Given the description of an element on the screen output the (x, y) to click on. 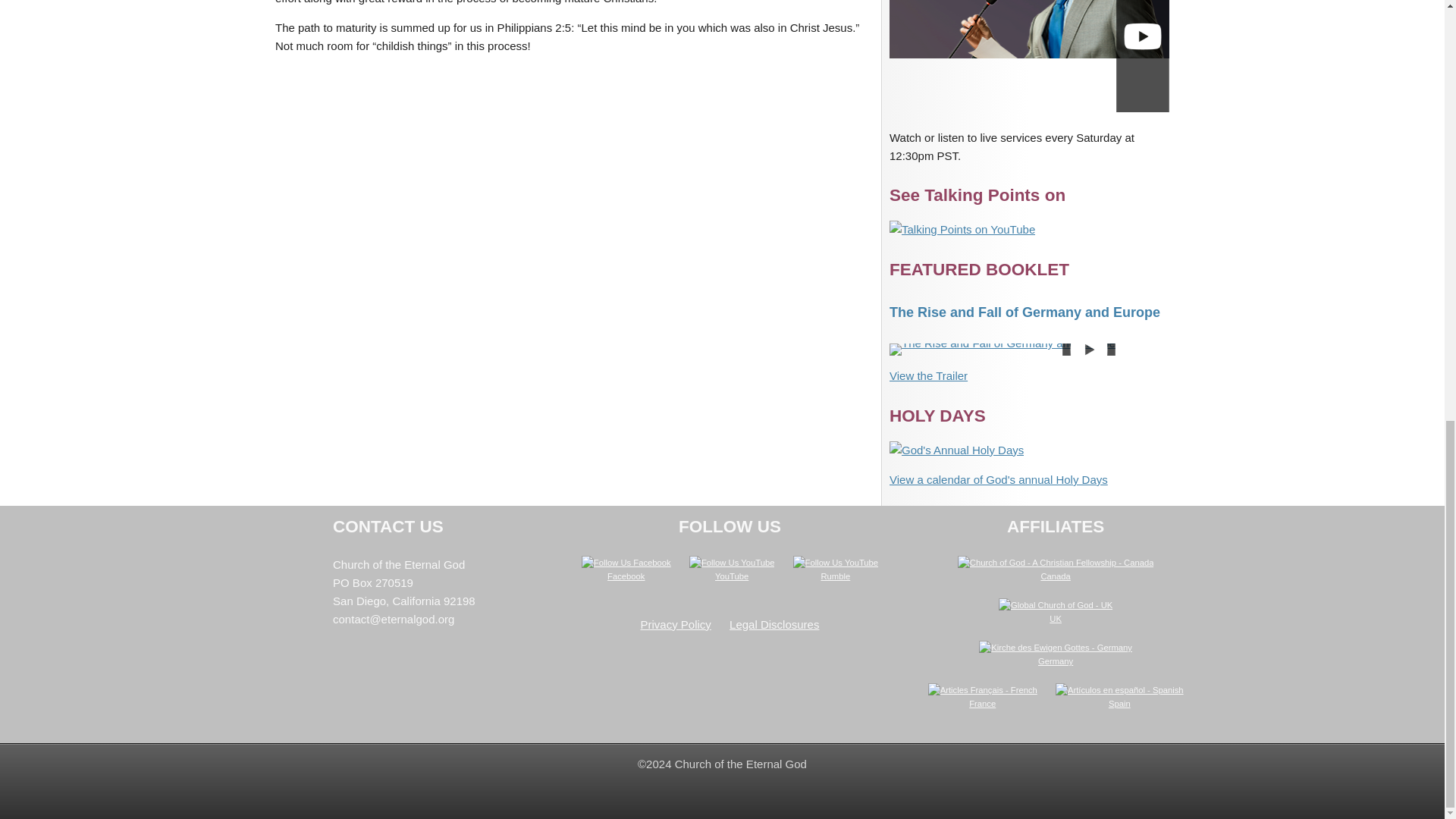
Follow Us YouTube (731, 562)
Church of God - A Christian Fellowship - Canada (1056, 562)
Global Church of God - UK (1055, 604)
God's Annual Holy Days (956, 450)
Follow Us YouTube (836, 562)
Live Church Services (1029, 55)
Kirche des Ewigen Gottes - Germany (1055, 647)
Follow Us Facebook (625, 562)
